Given the description of an element on the screen output the (x, y) to click on. 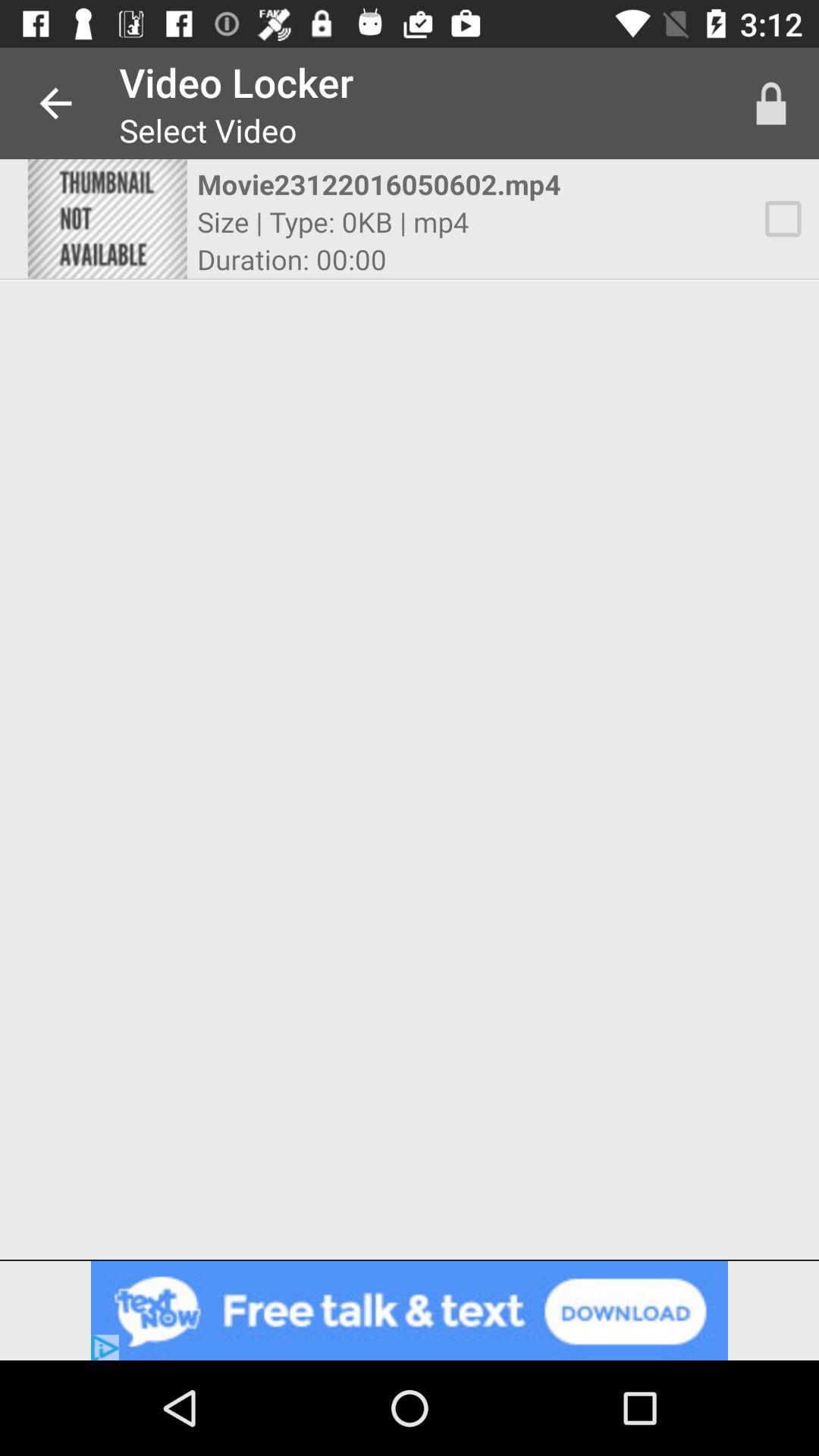
tap the icon next to the movie23122016050602.mp4 icon (783, 218)
